Given the description of an element on the screen output the (x, y) to click on. 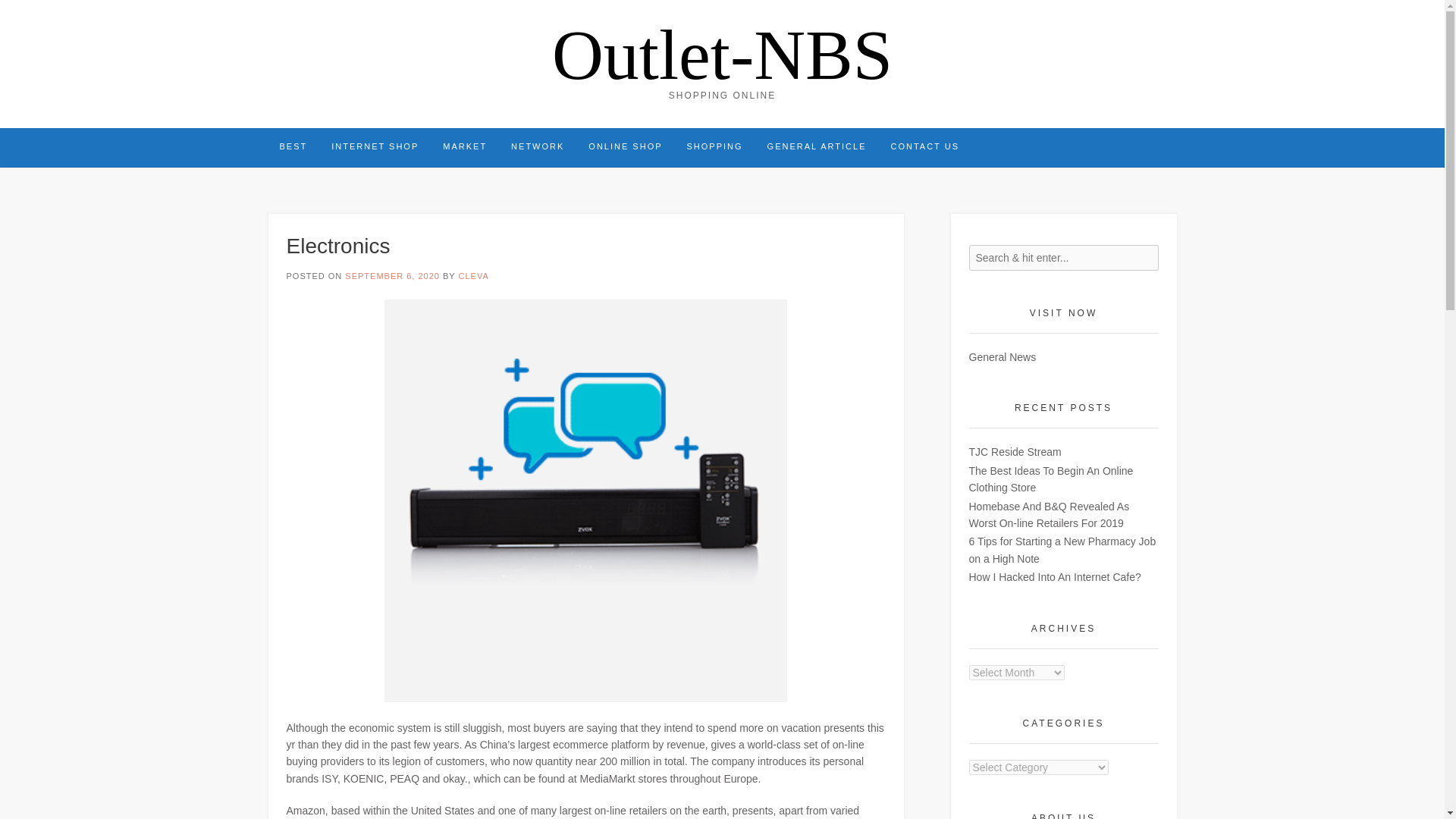
Outlet-NBS (721, 54)
Outlet-NBS (721, 54)
MARKET (464, 147)
CONTACT US (924, 147)
ONLINE SHOP (625, 147)
GENERAL ARTICLE (817, 147)
NETWORK (537, 147)
INTERNET SHOP (374, 147)
CLEVA (473, 275)
